Given the description of an element on the screen output the (x, y) to click on. 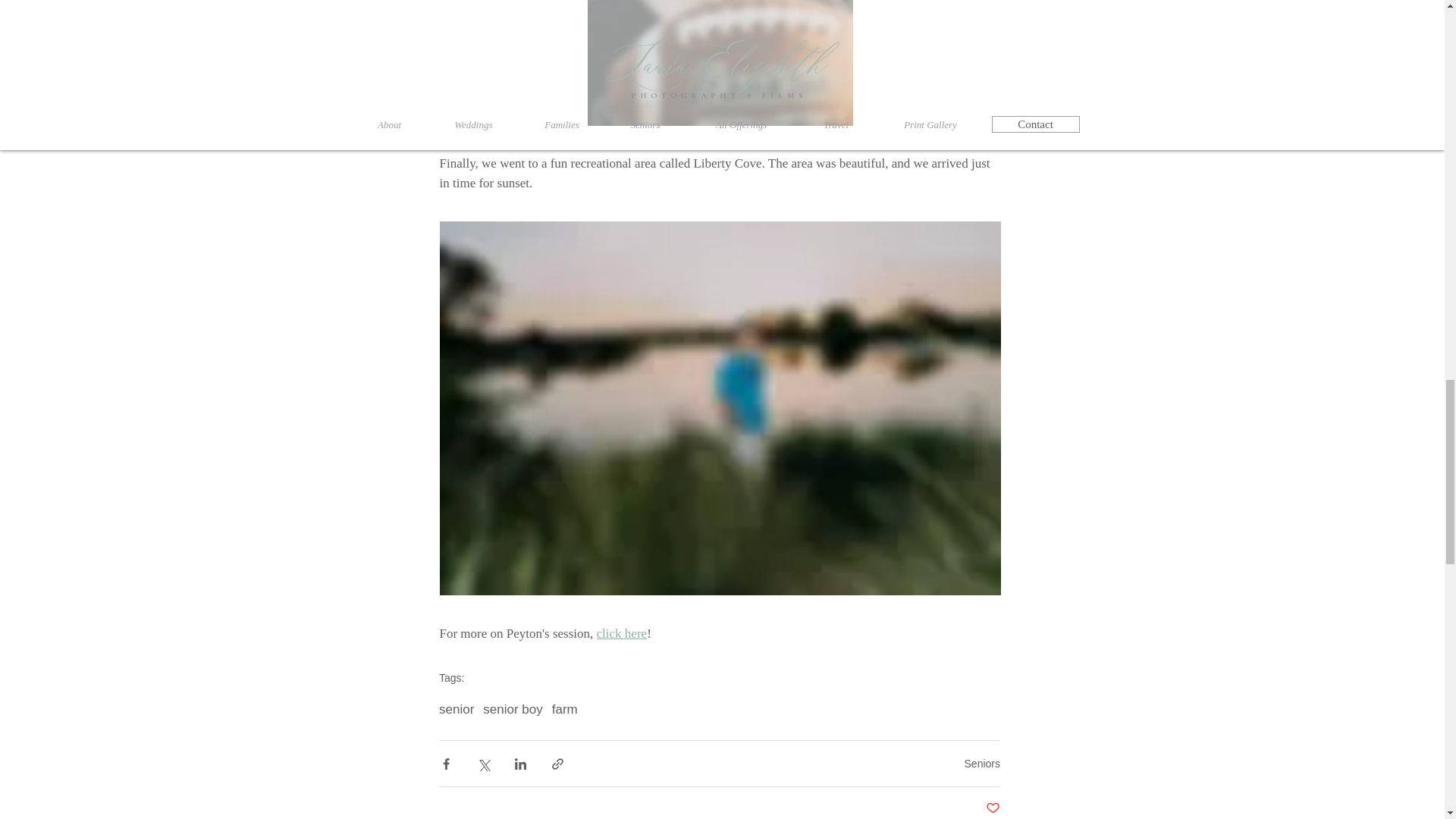
click here (620, 633)
senior boy (512, 709)
farm (564, 709)
Seniors (981, 763)
senior (456, 709)
